Given the description of an element on the screen output the (x, y) to click on. 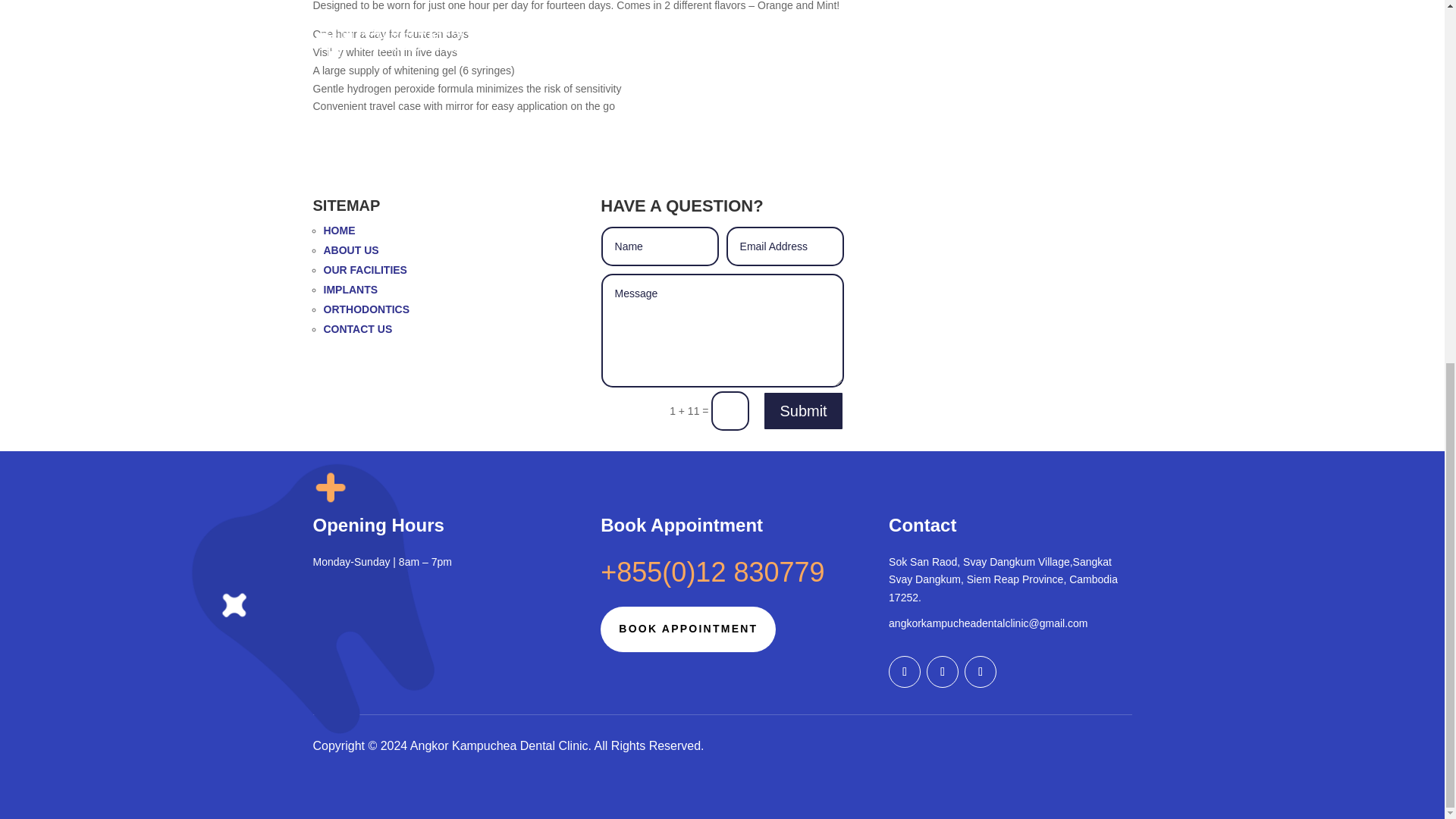
About Us (350, 250)
Our Dental Services (364, 269)
Follow on Instagram (979, 671)
Contact Us (357, 328)
Smile Gallery (350, 289)
Follow on X (942, 671)
Follow on Facebook (904, 671)
New Patient Information (366, 309)
Home (339, 230)
